Given the description of an element on the screen output the (x, y) to click on. 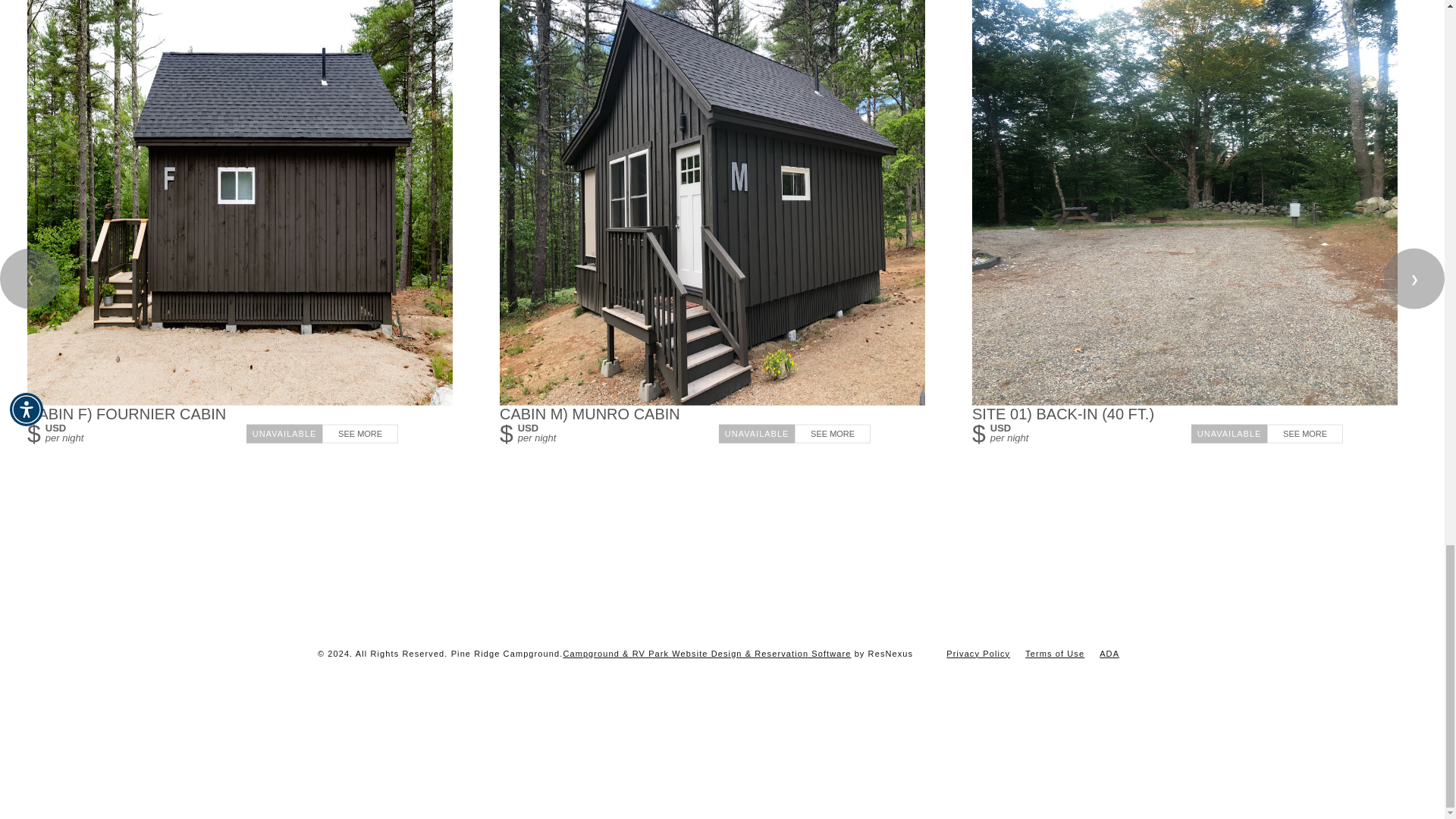
SEE MORE (1304, 434)
SEE MORE (359, 434)
SEE MORE (832, 434)
